Given the description of an element on the screen output the (x, y) to click on. 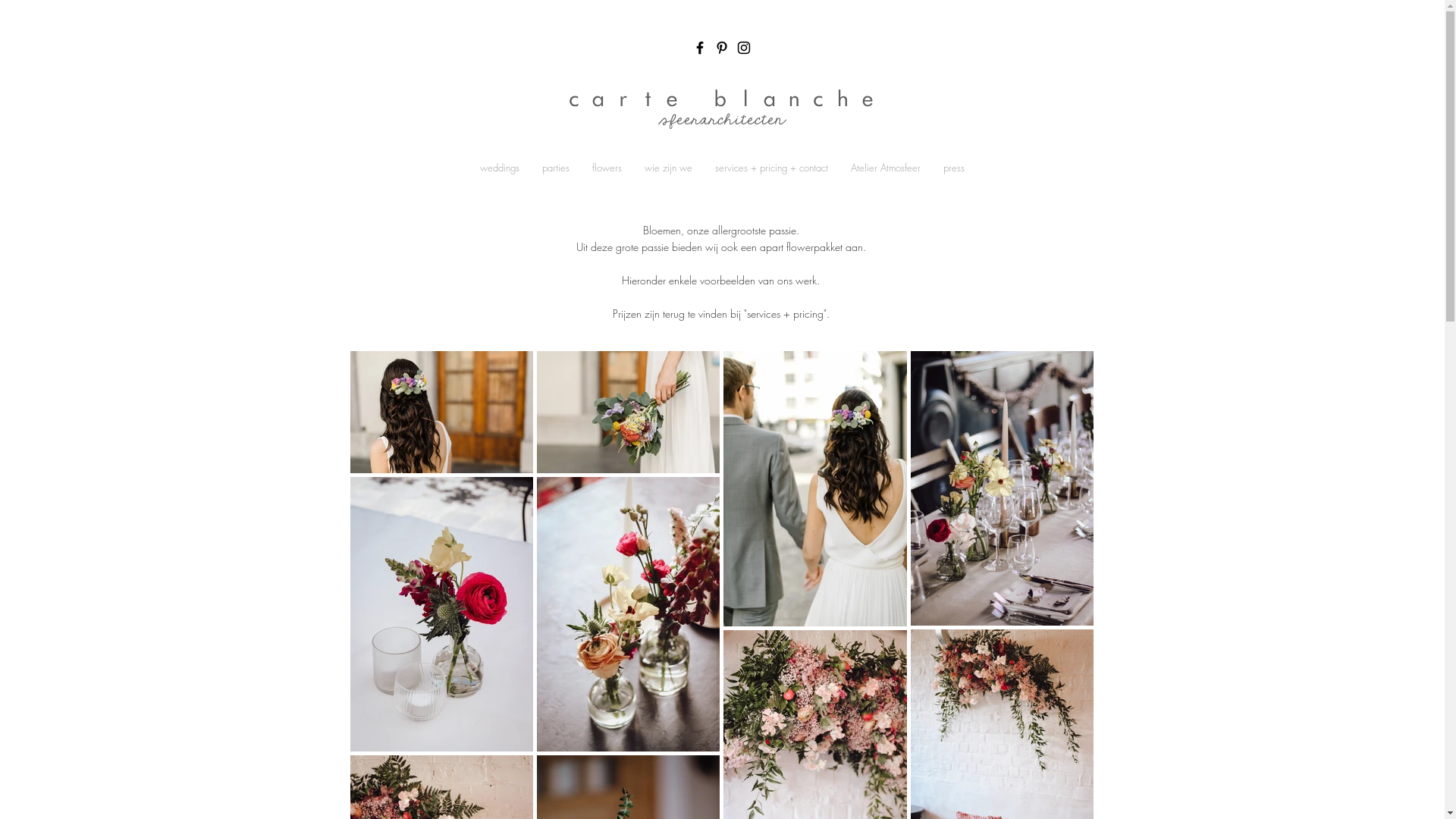
parties Element type: text (555, 167)
wie zijn we Element type: text (668, 167)
weddings Element type: text (499, 167)
carte blanche Element type: text (722, 97)
Atelier Atmosfeer Element type: text (885, 167)
flowers Element type: text (606, 167)
press Element type: text (953, 167)
services + pricing + contact Element type: text (771, 167)
